Given the description of an element on the screen output the (x, y) to click on. 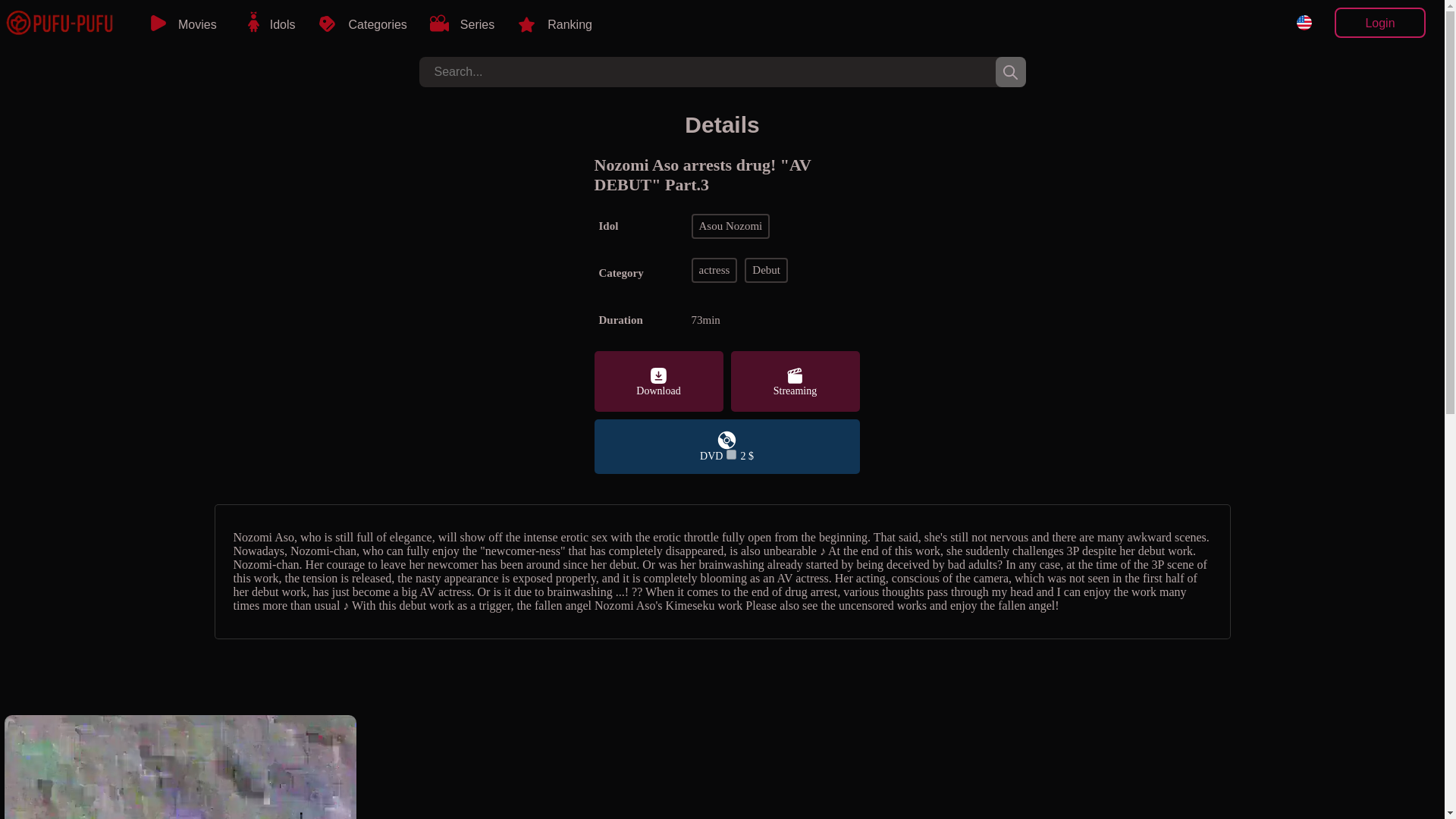
Movies (197, 24)
home (59, 24)
Categories (376, 24)
Series (477, 24)
Ranking (569, 24)
on (731, 454)
actress (716, 269)
Login (1380, 22)
Asou Nozomi (775, 226)
Idols (282, 24)
Debut (768, 269)
